Given the description of an element on the screen output the (x, y) to click on. 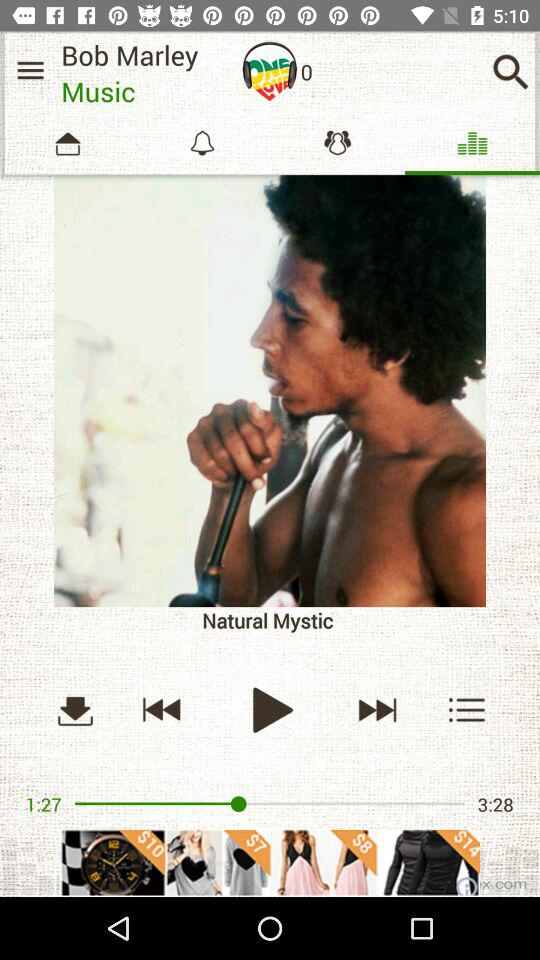
search (510, 71)
